Given the description of an element on the screen output the (x, y) to click on. 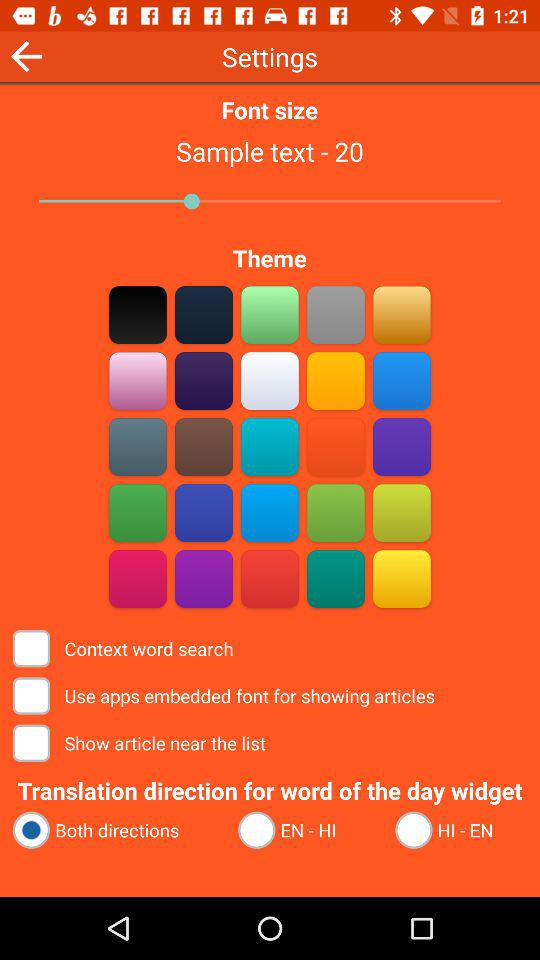
a purple theme option (203, 578)
